Given the description of an element on the screen output the (x, y) to click on. 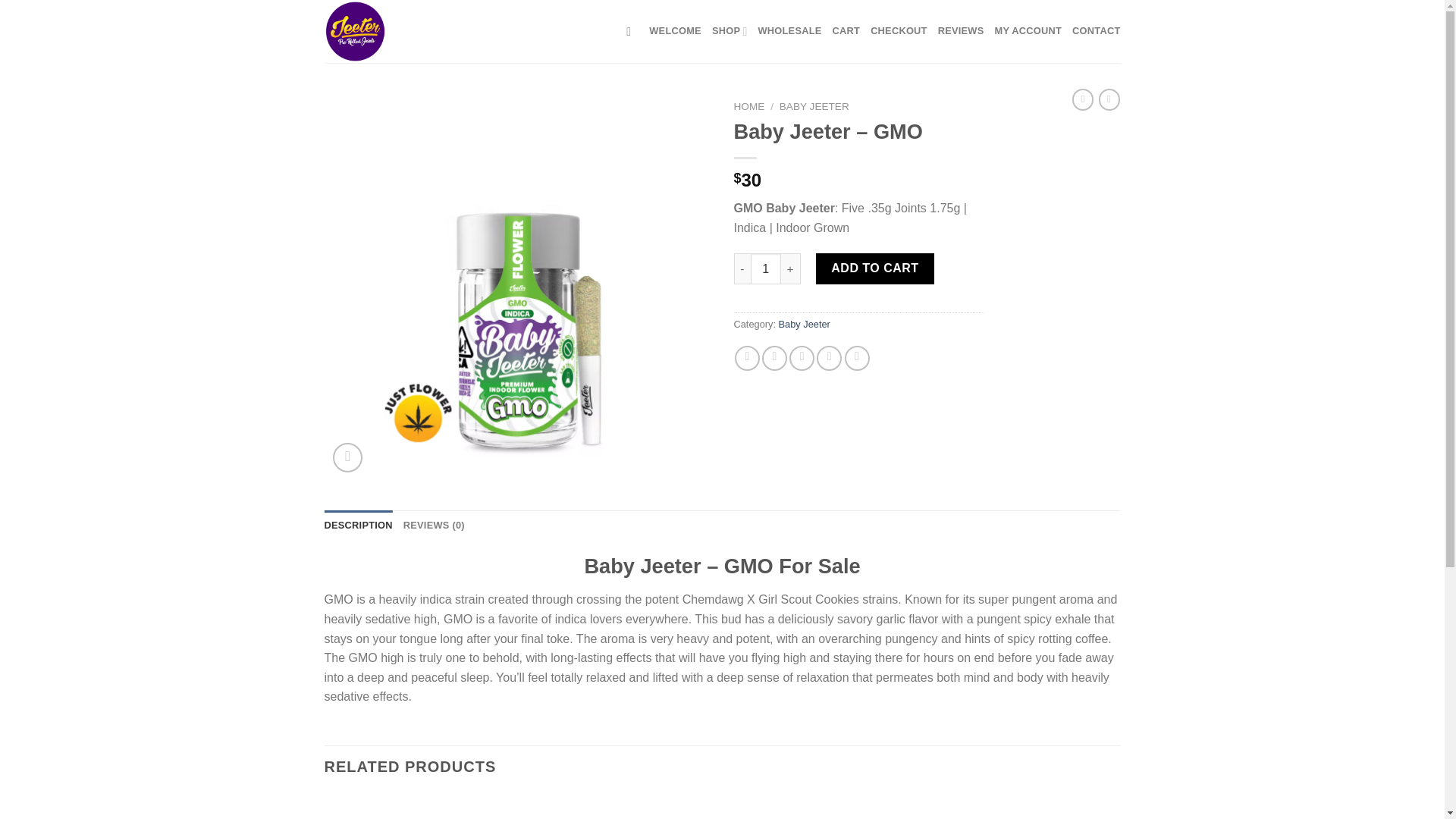
Baby Jeeter (803, 324)
CART (846, 30)
Jeeter Juice Official - Prerolls and Disposable Carts (400, 31)
CHECKOUT (898, 30)
HOME (749, 106)
REVIEWS (960, 30)
BABY JEETER (813, 106)
1 (765, 268)
SHOP (729, 30)
WELCOME (675, 30)
WHOLESALE (789, 30)
Qty (765, 268)
MY ACCOUNT (1028, 30)
ADD TO CART (874, 268)
